Given the description of an element on the screen output the (x, y) to click on. 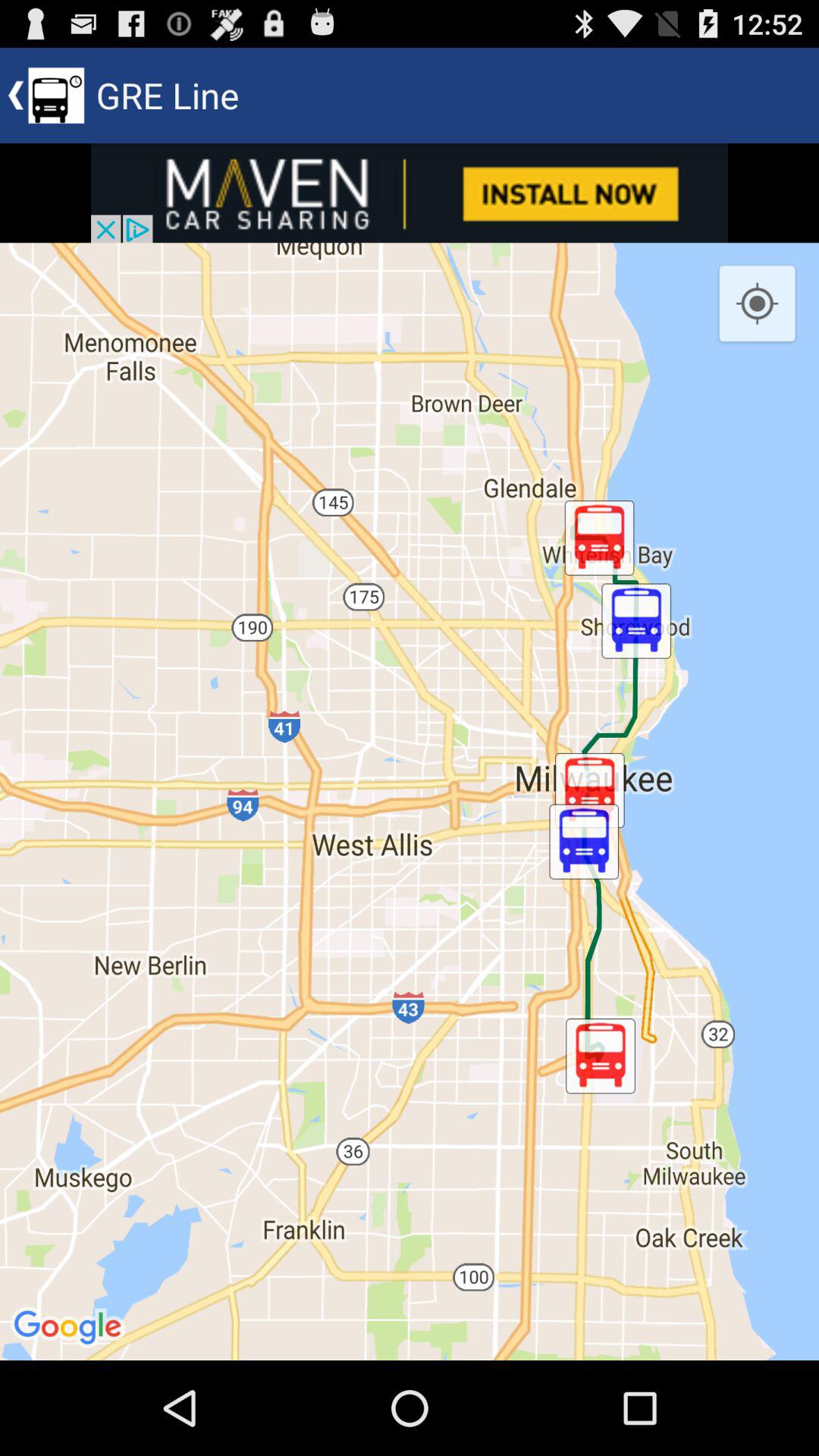
advertisement (409, 192)
